Given the description of an element on the screen output the (x, y) to click on. 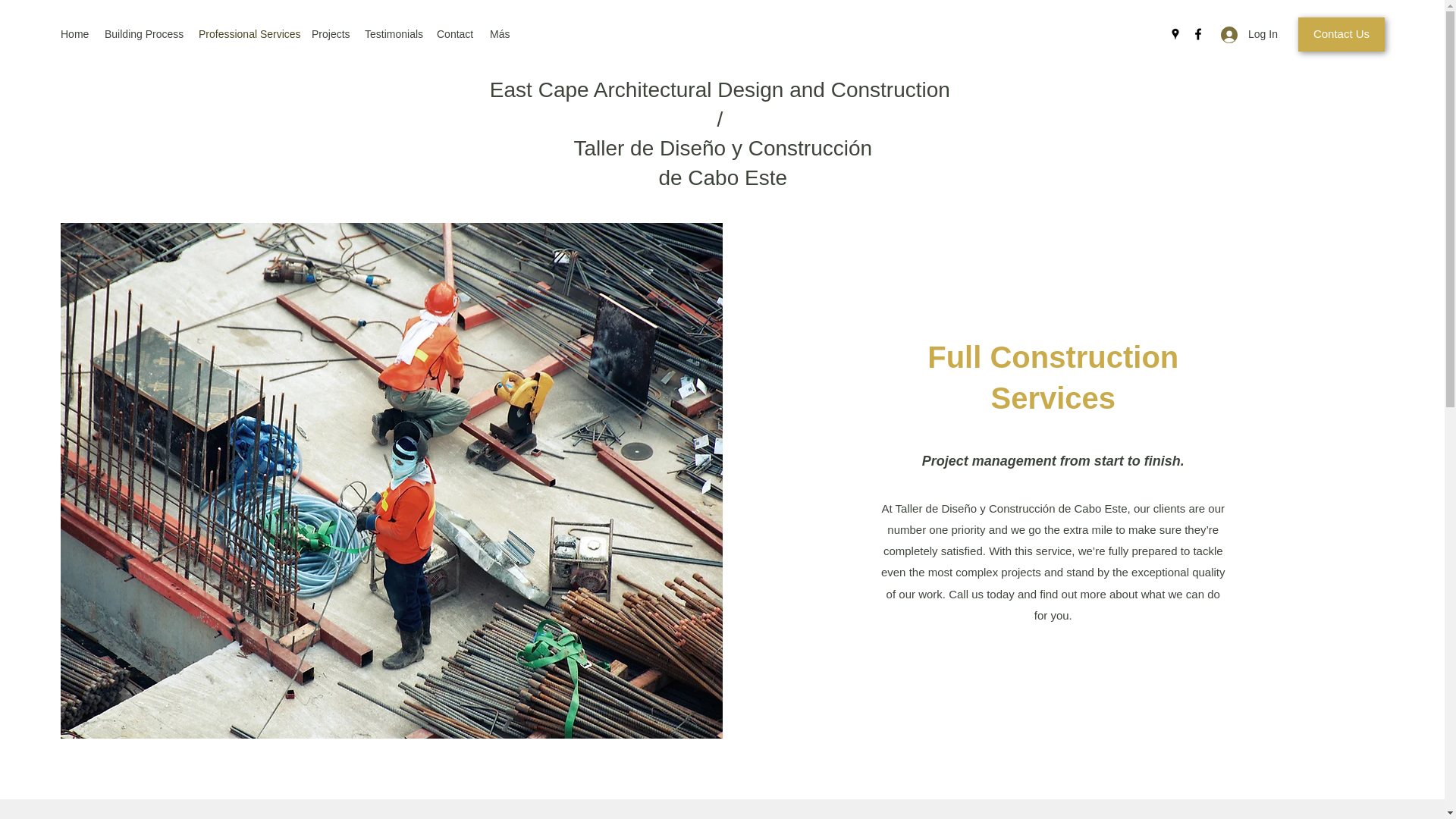
Log In (1243, 34)
Projects (330, 33)
Building Process (143, 33)
Professional Services (247, 33)
East Cape Architectural Design and Construction  (722, 89)
Home (74, 33)
de Cabo Este (722, 177)
Contact Us (1341, 34)
Contact (455, 33)
Testimonials (392, 33)
